Given the description of an element on the screen output the (x, y) to click on. 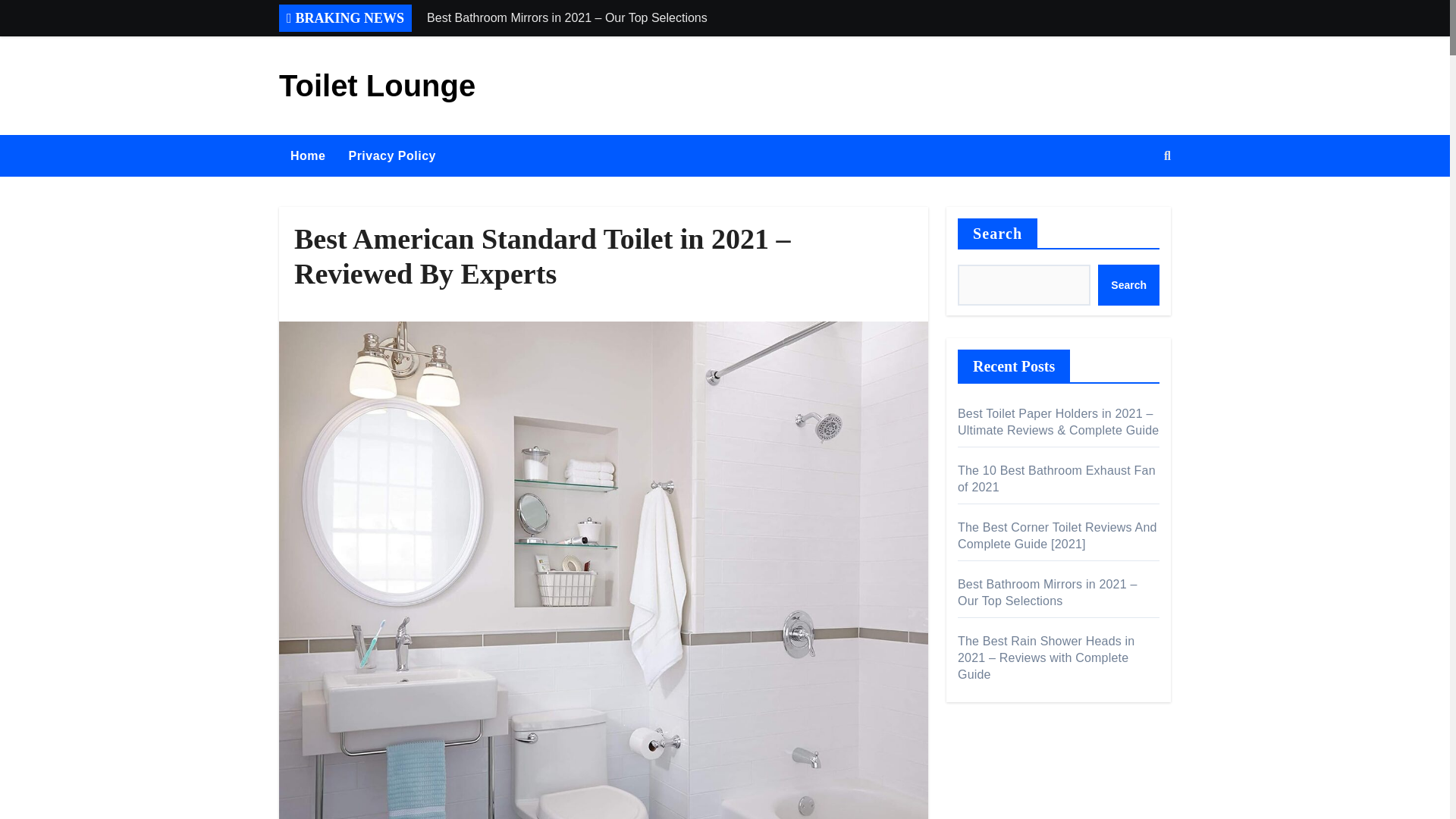
Privacy Policy (391, 155)
Toilet Lounge (377, 85)
Home (307, 155)
Home (307, 155)
